Given the description of an element on the screen output the (x, y) to click on. 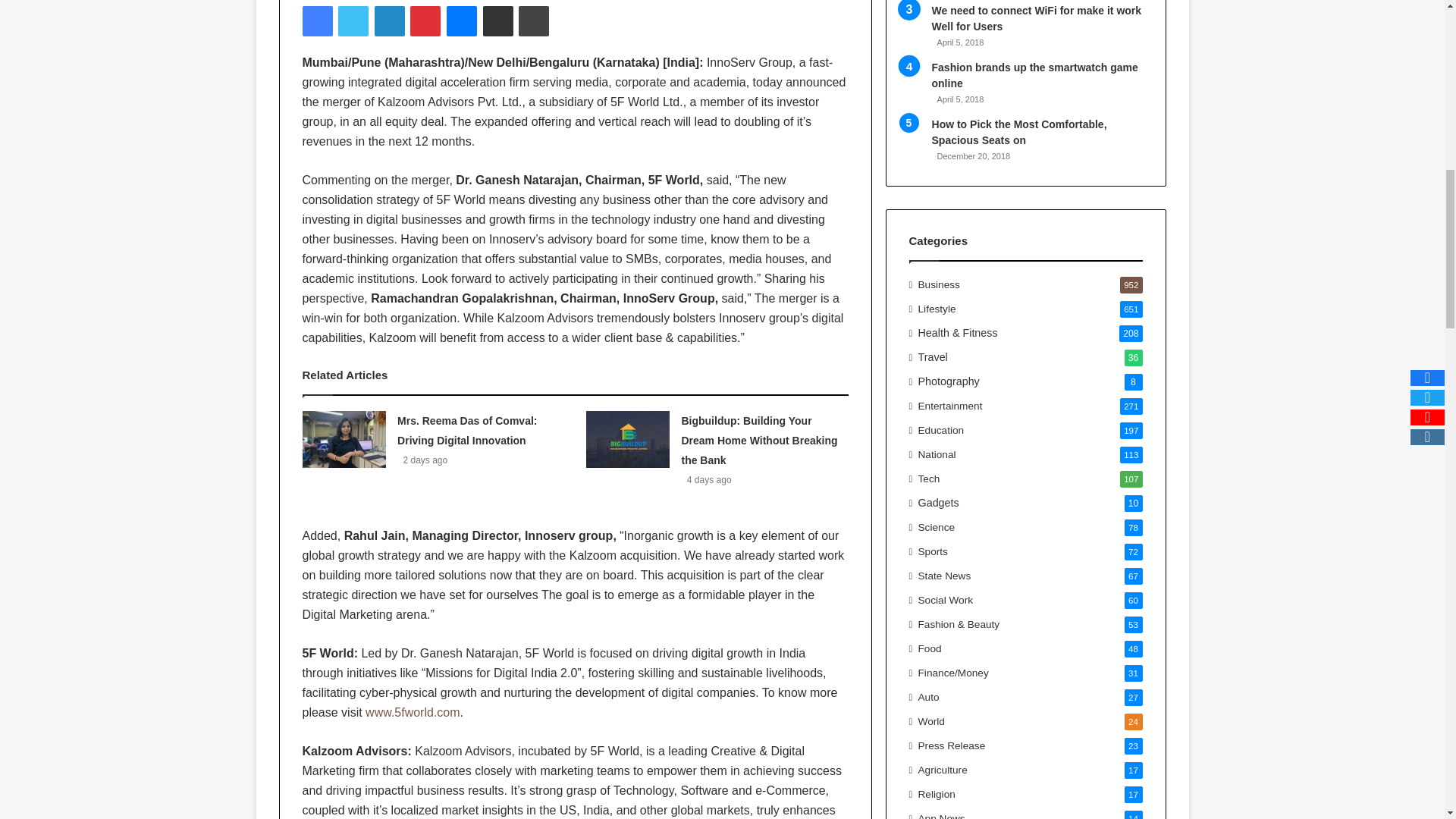
Pinterest (425, 20)
Facebook (316, 20)
Print (533, 20)
Share via Email (498, 20)
Messenger (461, 20)
Twitter (352, 20)
LinkedIn (389, 20)
